Given the description of an element on the screen output the (x, y) to click on. 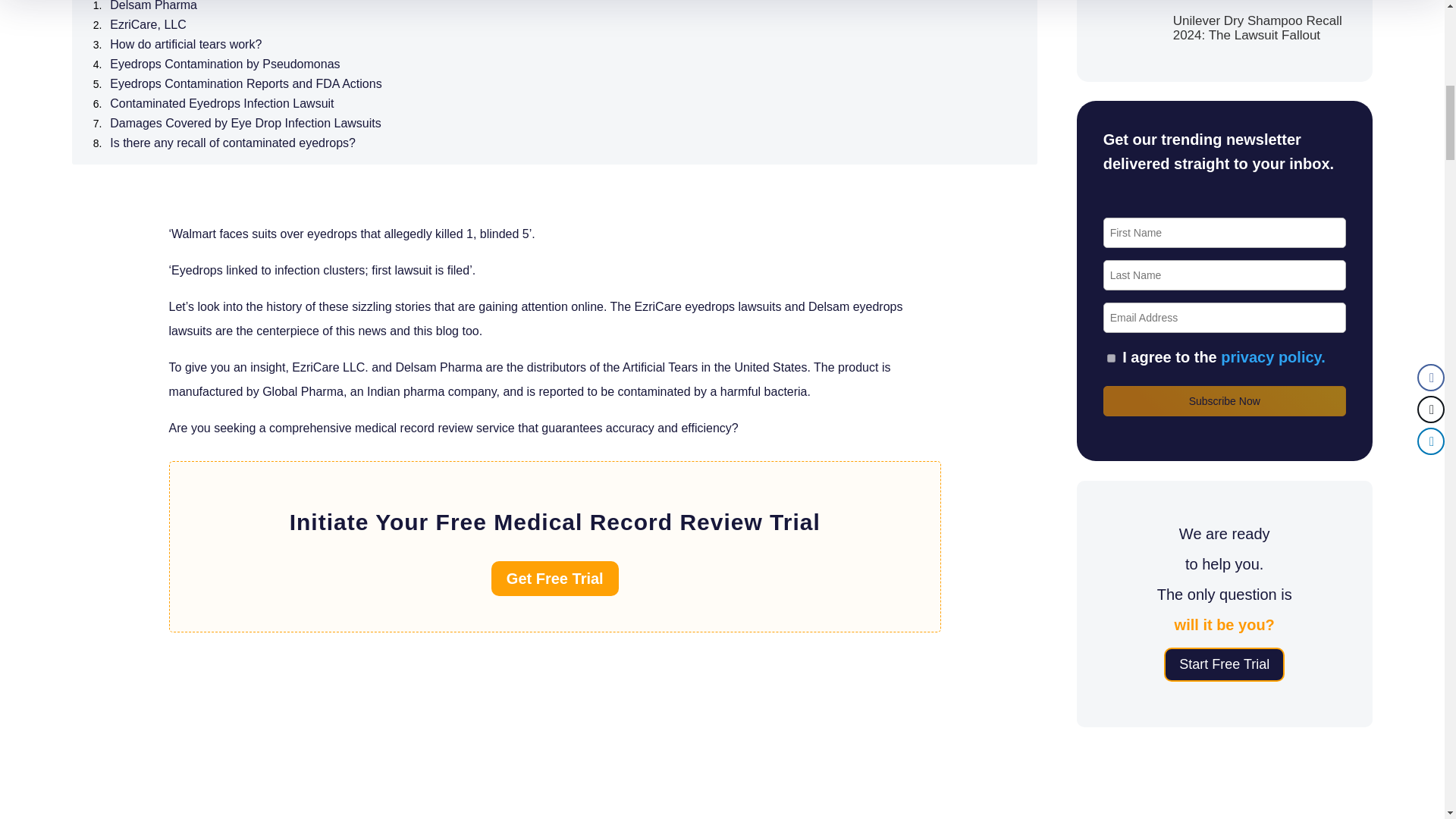
Damages Covered by Eye Drop Infection Lawsuits (245, 124)
1 (1111, 357)
Is there any recall of contaminated eyedrops? (232, 143)
Get Free Trial (555, 578)
Eyedrops Contamination Reports and FDA Actions (245, 83)
How do artificial tears work? (186, 44)
EzriCare, LLC (148, 25)
Subscribe Now (1224, 400)
Delsam Pharma (153, 6)
Contaminated Eyedrops Infection Lawsuit (221, 104)
Eyedrops Contamination by Pseudomonas (224, 64)
